Given the description of an element on the screen output the (x, y) to click on. 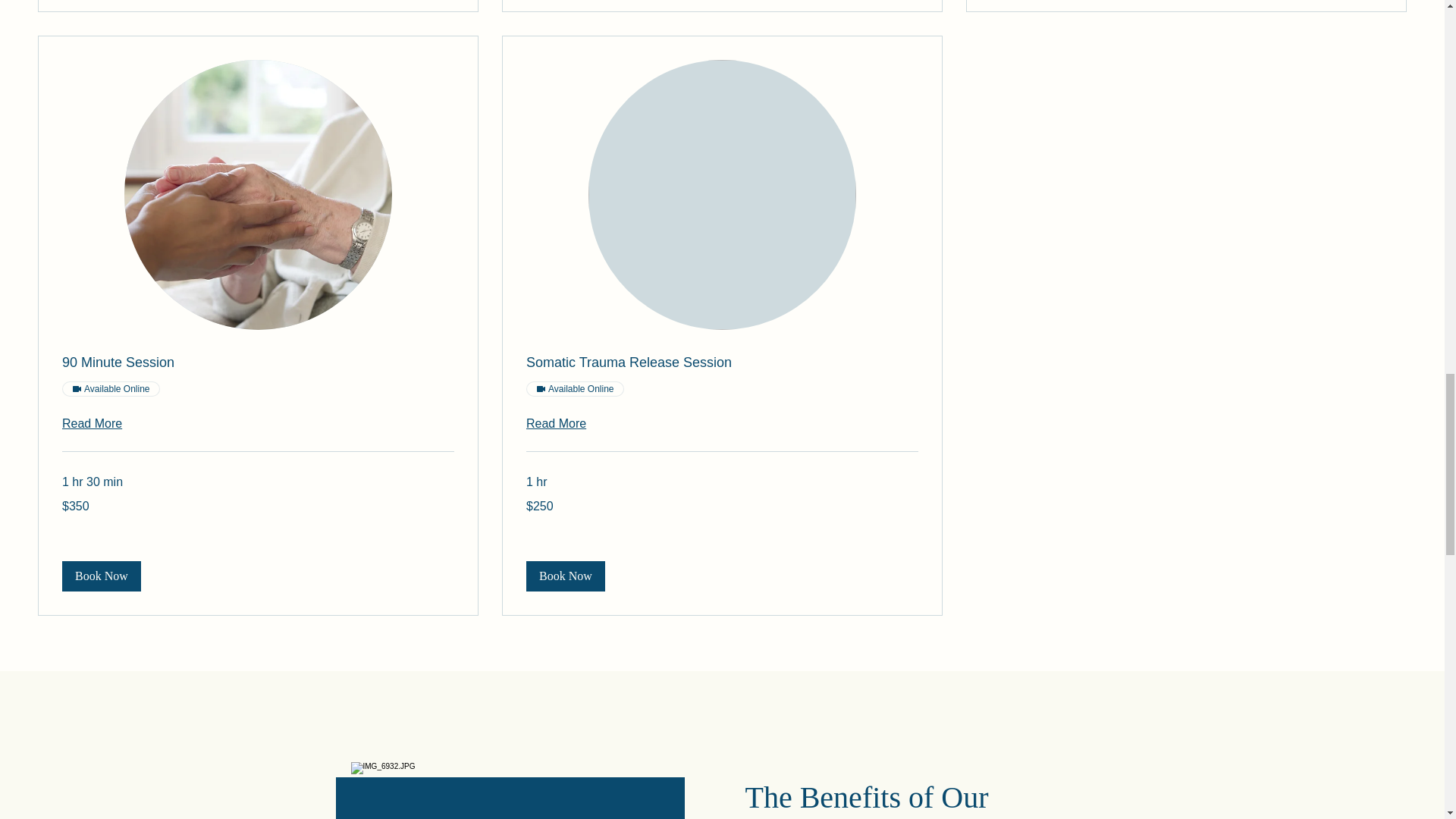
Book Now (101, 576)
Book Now (565, 576)
Somatic Trauma Release Session (721, 362)
Read More (258, 423)
Read More (721, 423)
90 Minute Session (258, 362)
